Given the description of an element on the screen output the (x, y) to click on. 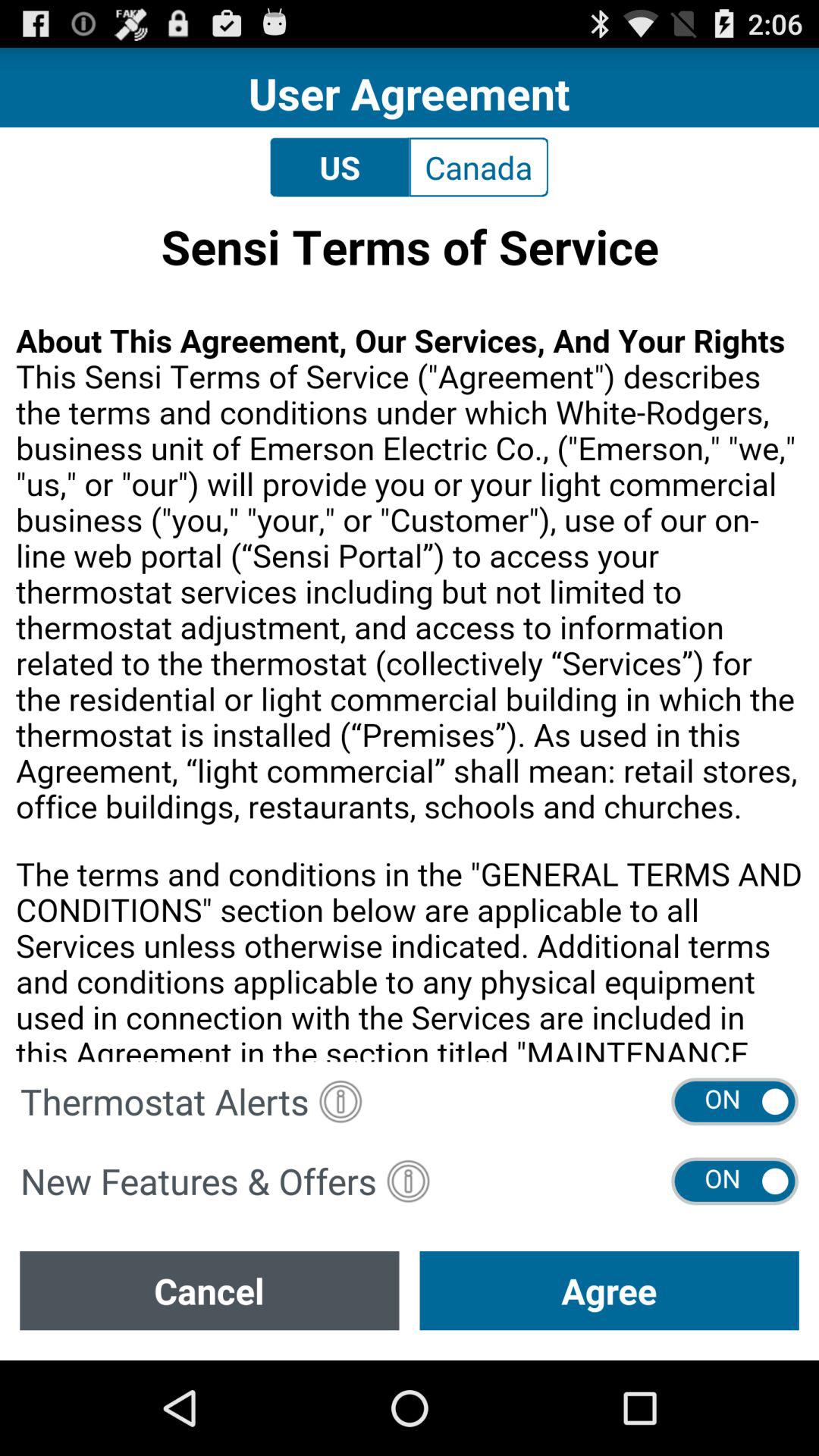
get more information (408, 1180)
